Given the description of an element on the screen output the (x, y) to click on. 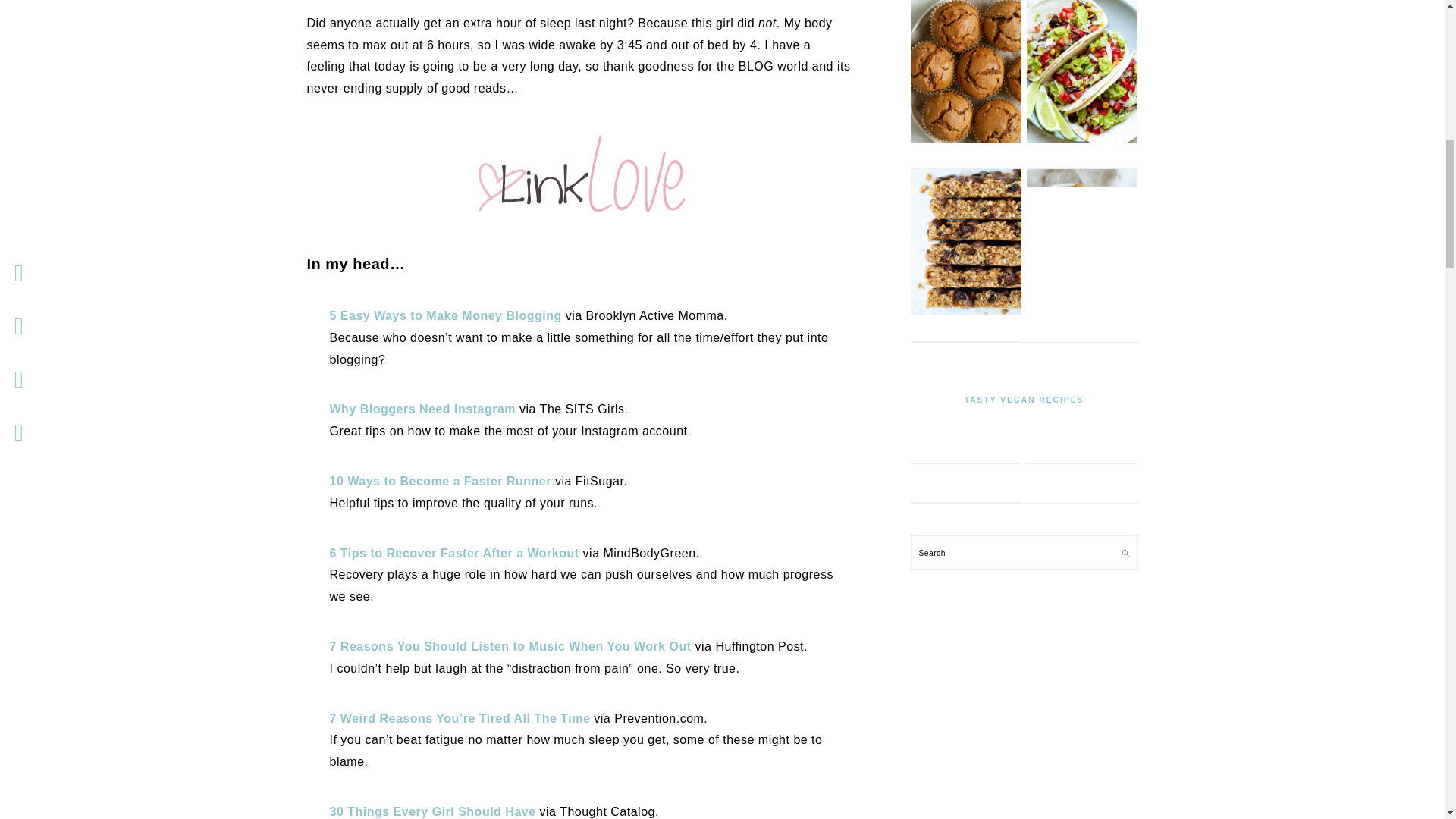
7 Reasons You Should Listen to Music When You Work Out (509, 645)
soft and chewy granola bars (965, 310)
easy morning glory muffins (965, 138)
black bean taco filling (1081, 138)
two minute banana muffin (1081, 310)
30 Things Every Girl Should Have (432, 811)
5 Easy Ways to Make Money Blogging (444, 315)
Why Bloggers Need Instagram (422, 408)
